Given the description of an element on the screen output the (x, y) to click on. 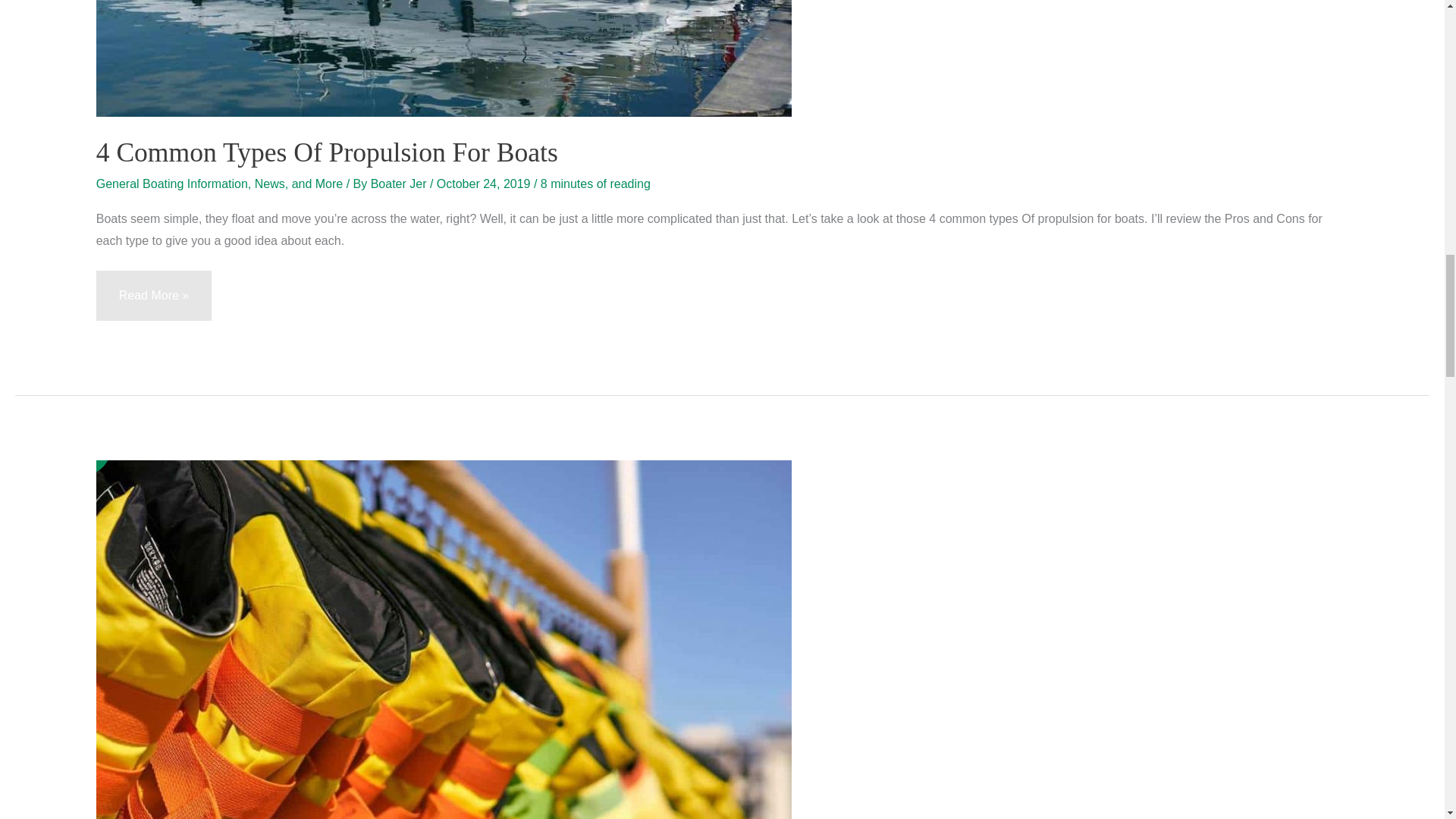
Boater Jer (400, 183)
4 Common Types Of Propulsion For Boats (326, 152)
View all posts by Boater Jer (400, 183)
General Boating Information, News, and More (219, 183)
